Given the description of an element on the screen output the (x, y) to click on. 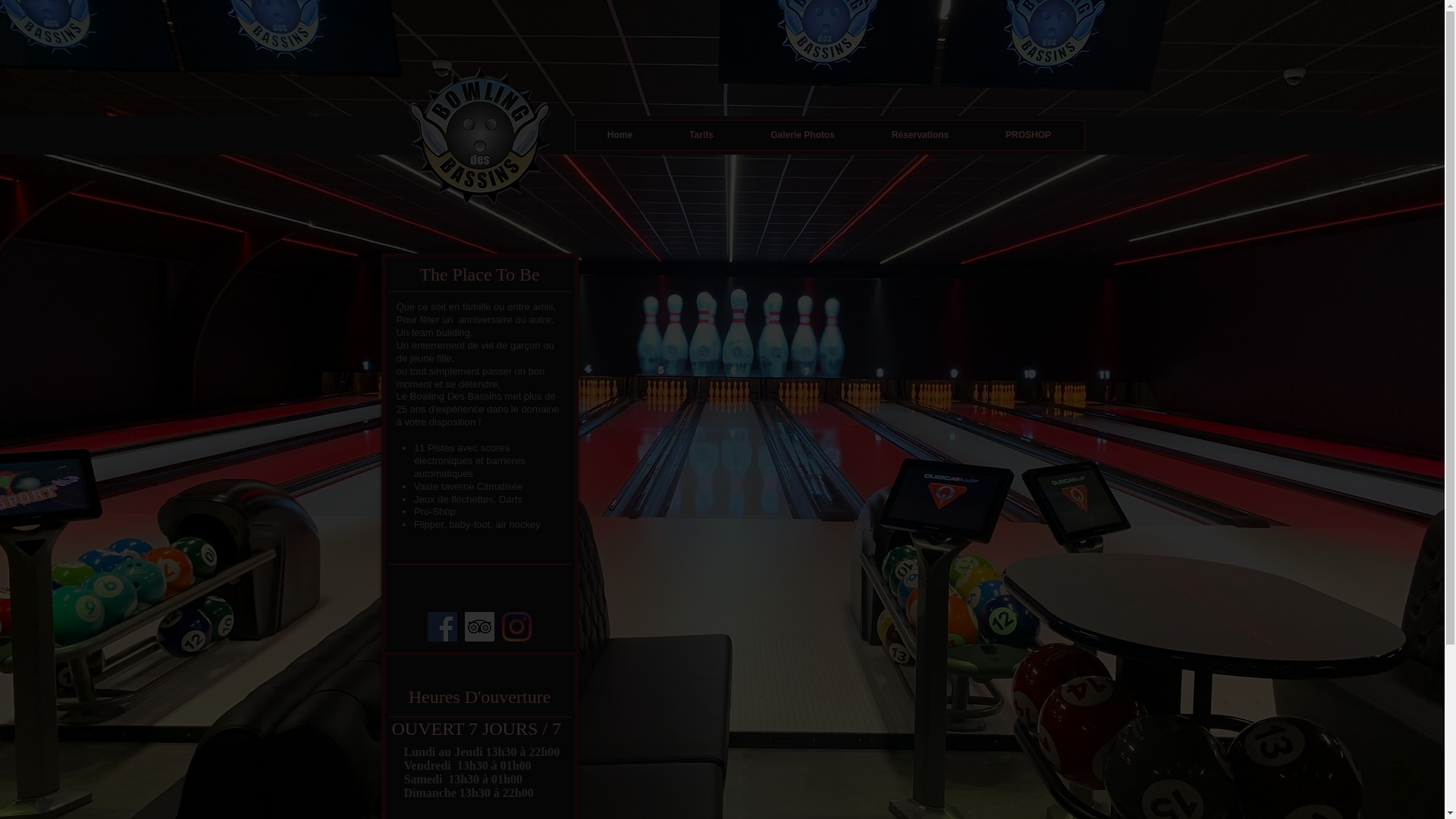
PROSHOP Element type: text (1027, 134)
Home Element type: text (620, 134)
Galerie Photos Element type: text (801, 134)
